Given the description of an element on the screen output the (x, y) to click on. 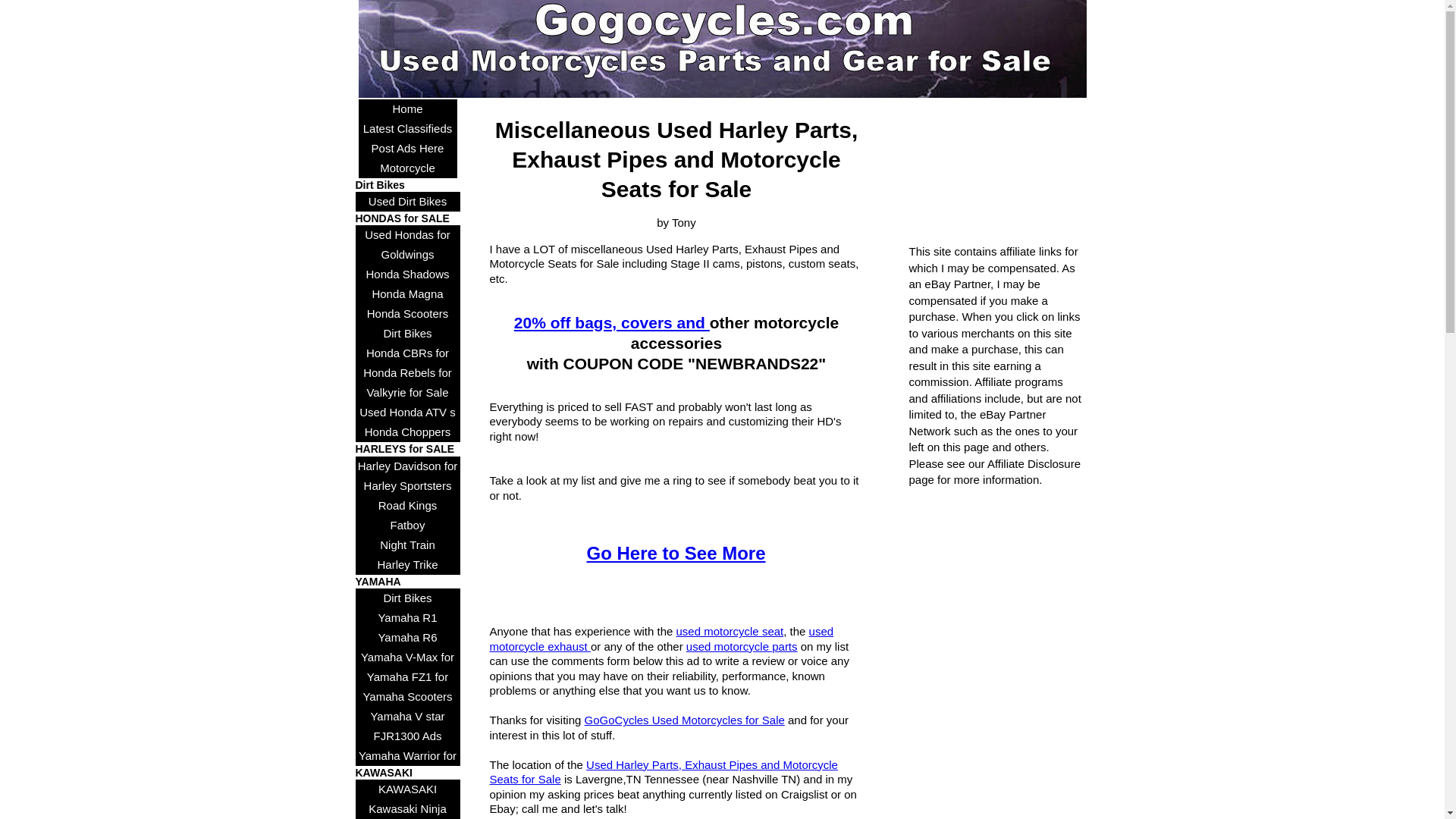
Used Dirt Bikes (407, 201)
Dirt Bikes (407, 333)
used motorcycle exhaust (661, 638)
Road Kings (407, 505)
Home (407, 108)
Goldwings (407, 254)
Fatboy (407, 525)
Harley Sportsters (407, 485)
Post Ads Here (407, 148)
Honda Choppers (407, 432)
Used Hondas for Sale (407, 234)
Valkyrie for Sale (407, 392)
Go Here to See More (675, 552)
Night Train (407, 545)
